Given the description of an element on the screen output the (x, y) to click on. 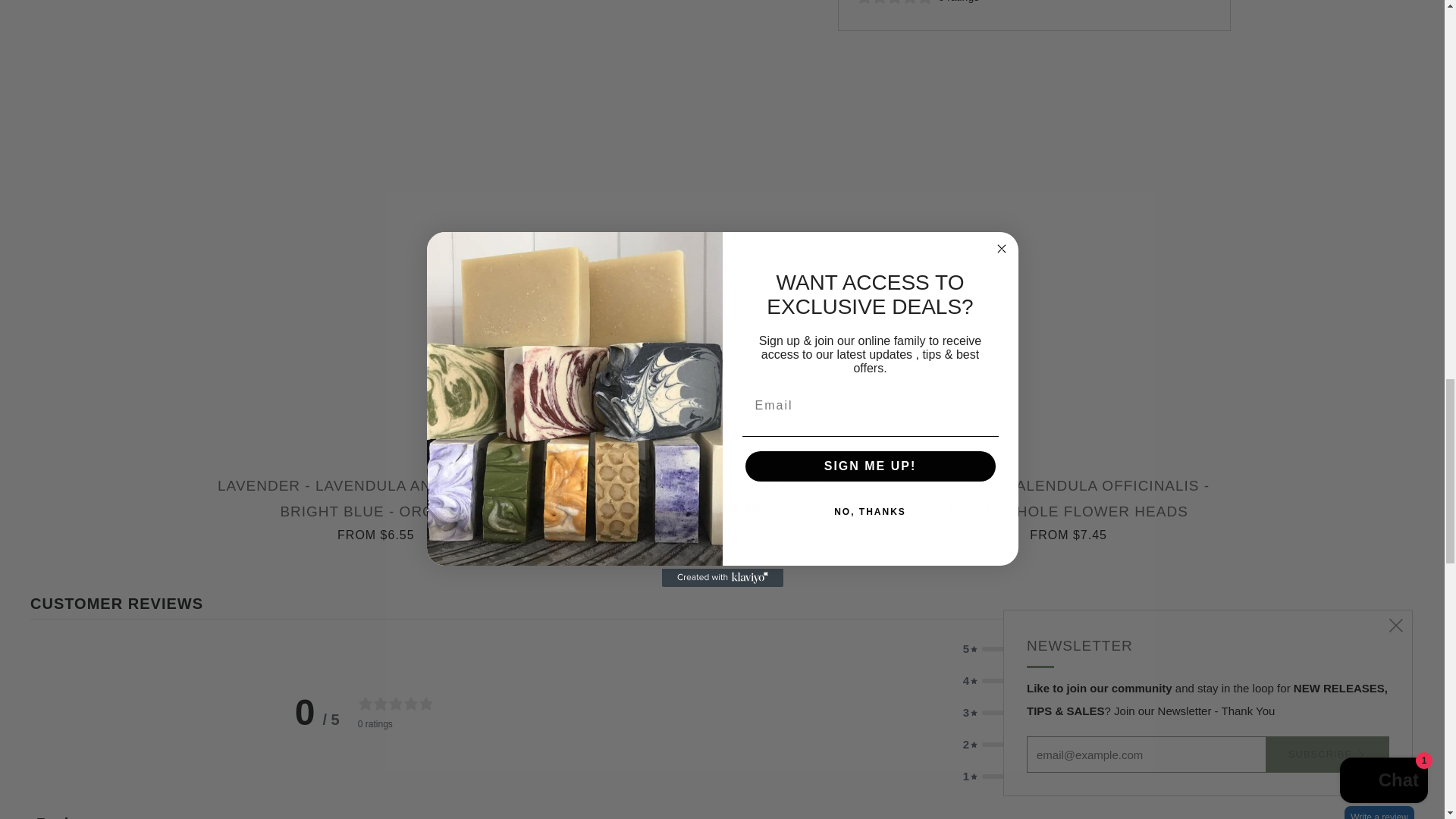
Rose Petals - Rosa centifolia - RED (721, 494)
Organic Calendula officinalis - Dried Whole Flower Heads (1068, 507)
Lavender - Lavendula angustifolia - Bright Blue - Organic (376, 507)
